Given the description of an element on the screen output the (x, y) to click on. 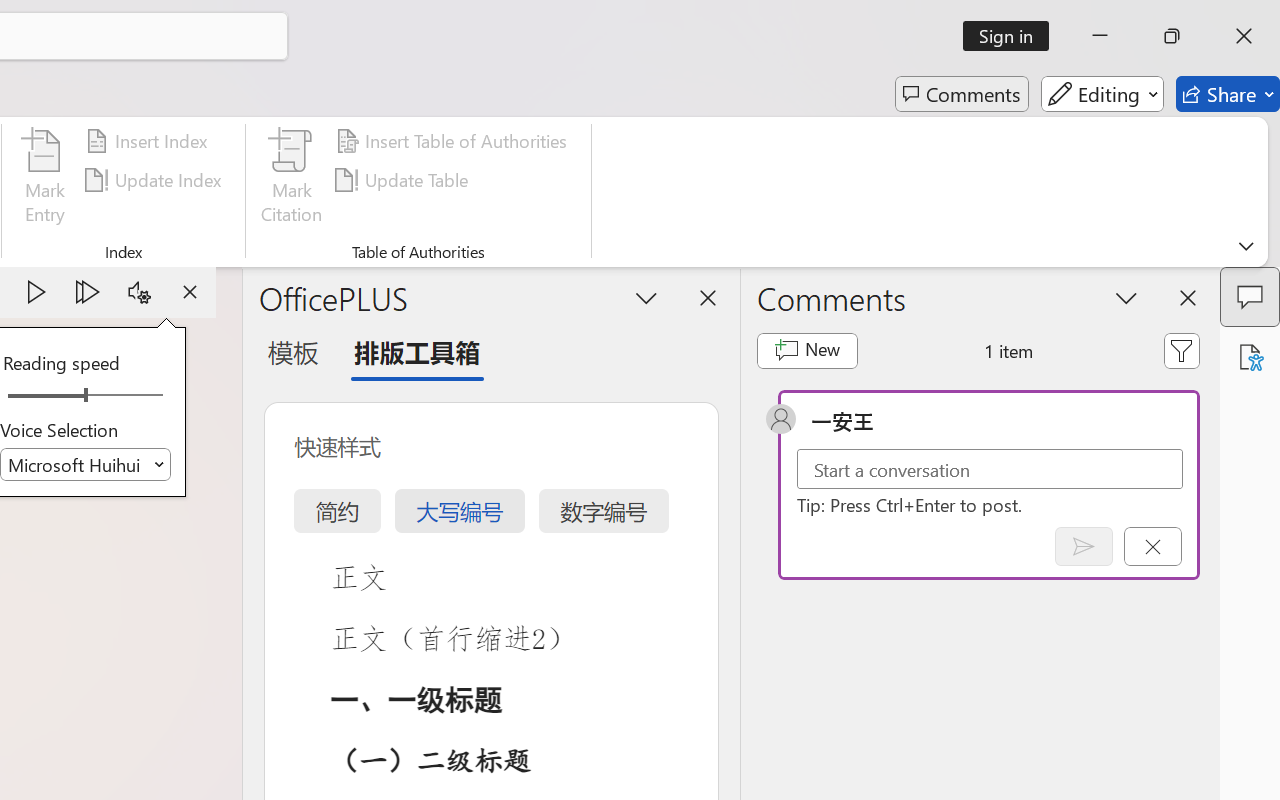
Update Table (404, 179)
Insert Index... (149, 141)
Post comment (Ctrl + Enter) (1083, 546)
Insert Table of Authorities... (453, 141)
Play (36, 292)
Page left (40, 395)
Voice Selection (85, 464)
